Given the description of an element on the screen output the (x, y) to click on. 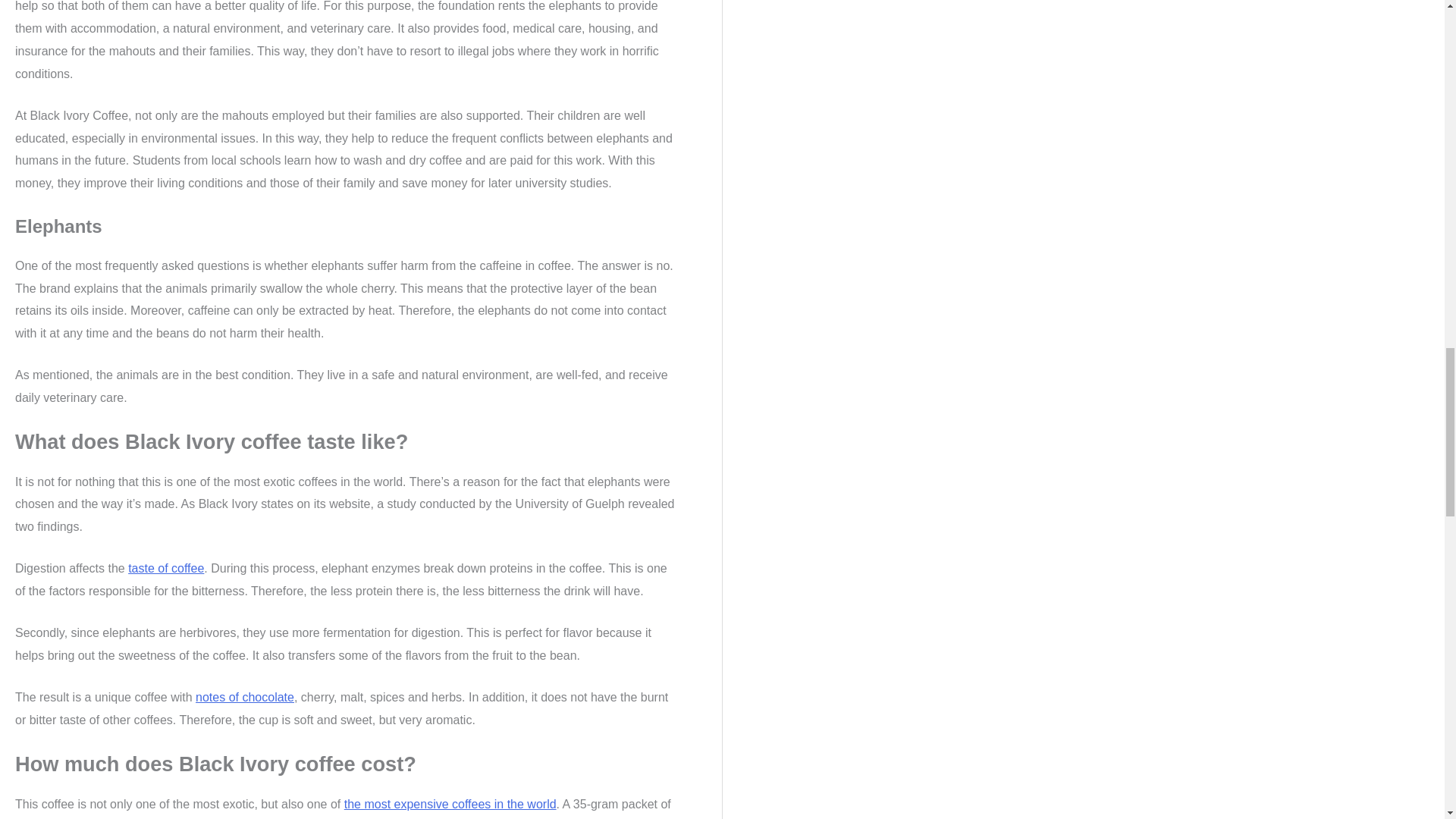
taste of coffee (165, 567)
notes of chocolate (244, 697)
the most expensive coffees in the world (449, 803)
